Given the description of an element on the screen output the (x, y) to click on. 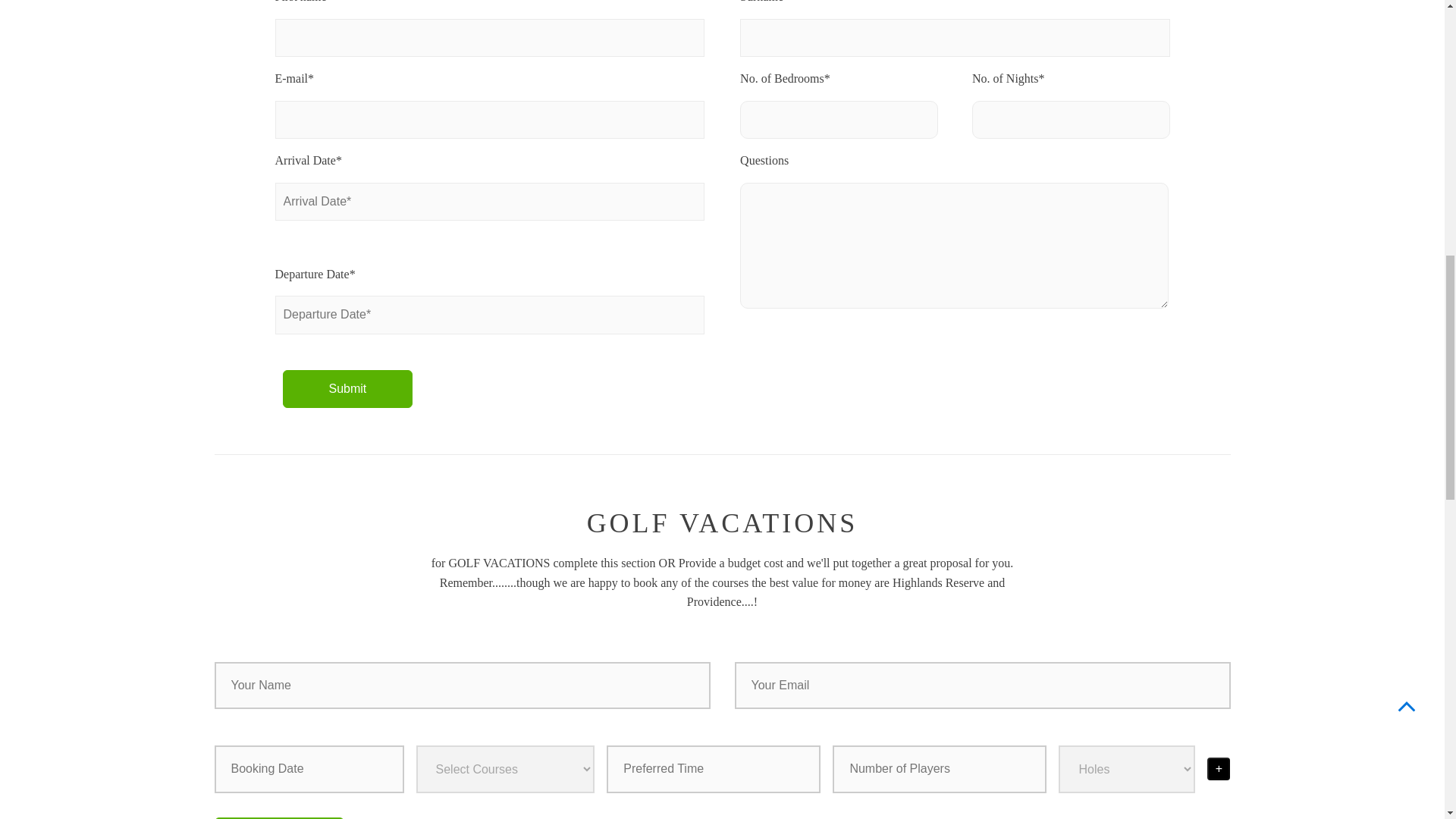
Submit (347, 388)
Submit (347, 388)
Submit (278, 818)
